Given the description of an element on the screen output the (x, y) to click on. 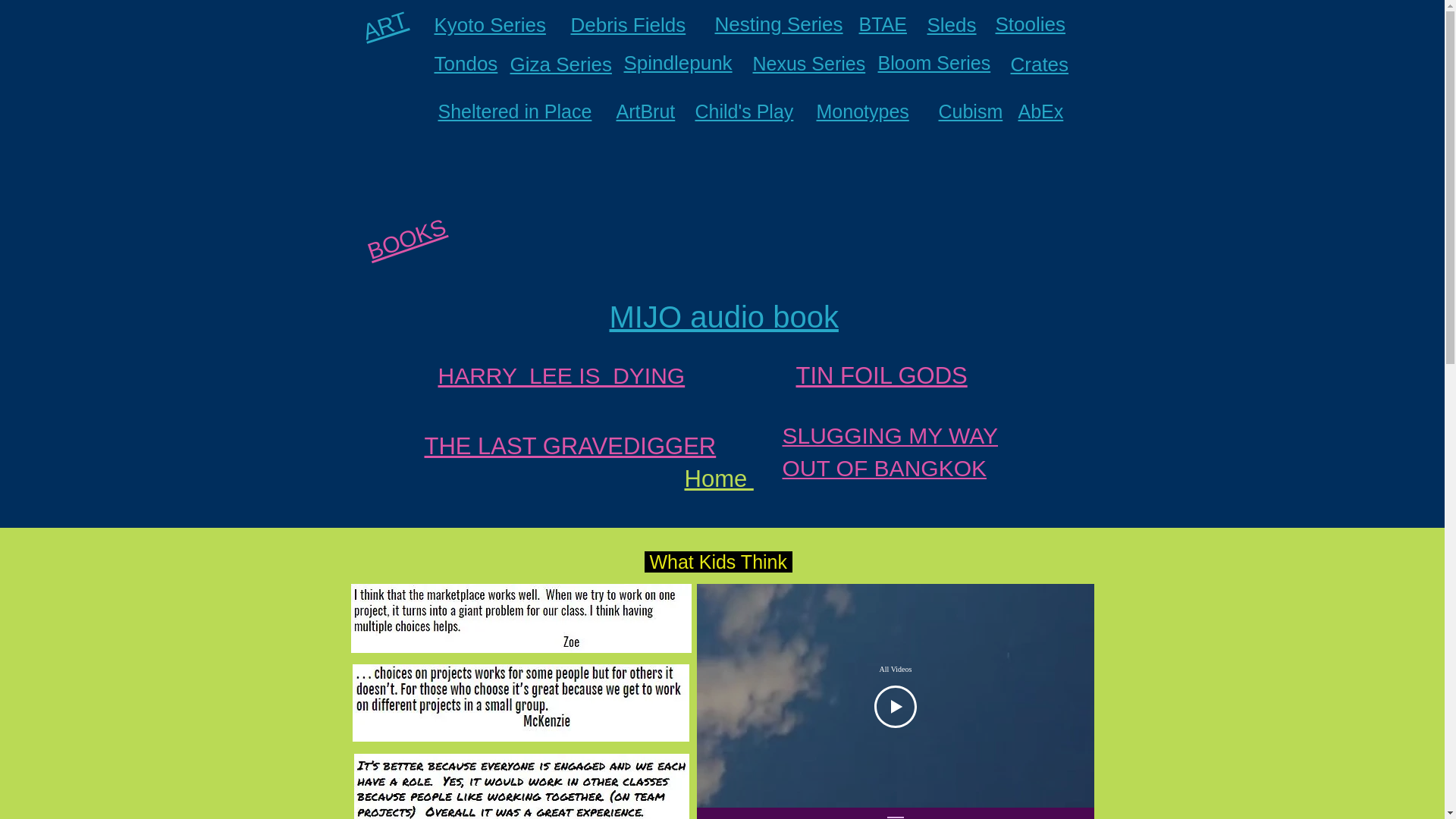
AbEx (1039, 111)
Sheltered in Place (515, 111)
Giza Series (560, 64)
MIJO audio book (724, 316)
ART (381, 18)
SLUGGING MY WAY OUT OF BANGKOK (890, 451)
Cubism (971, 111)
Crates (1039, 64)
Nesting Series (778, 24)
Tondos (465, 63)
